Given the description of an element on the screen output the (x, y) to click on. 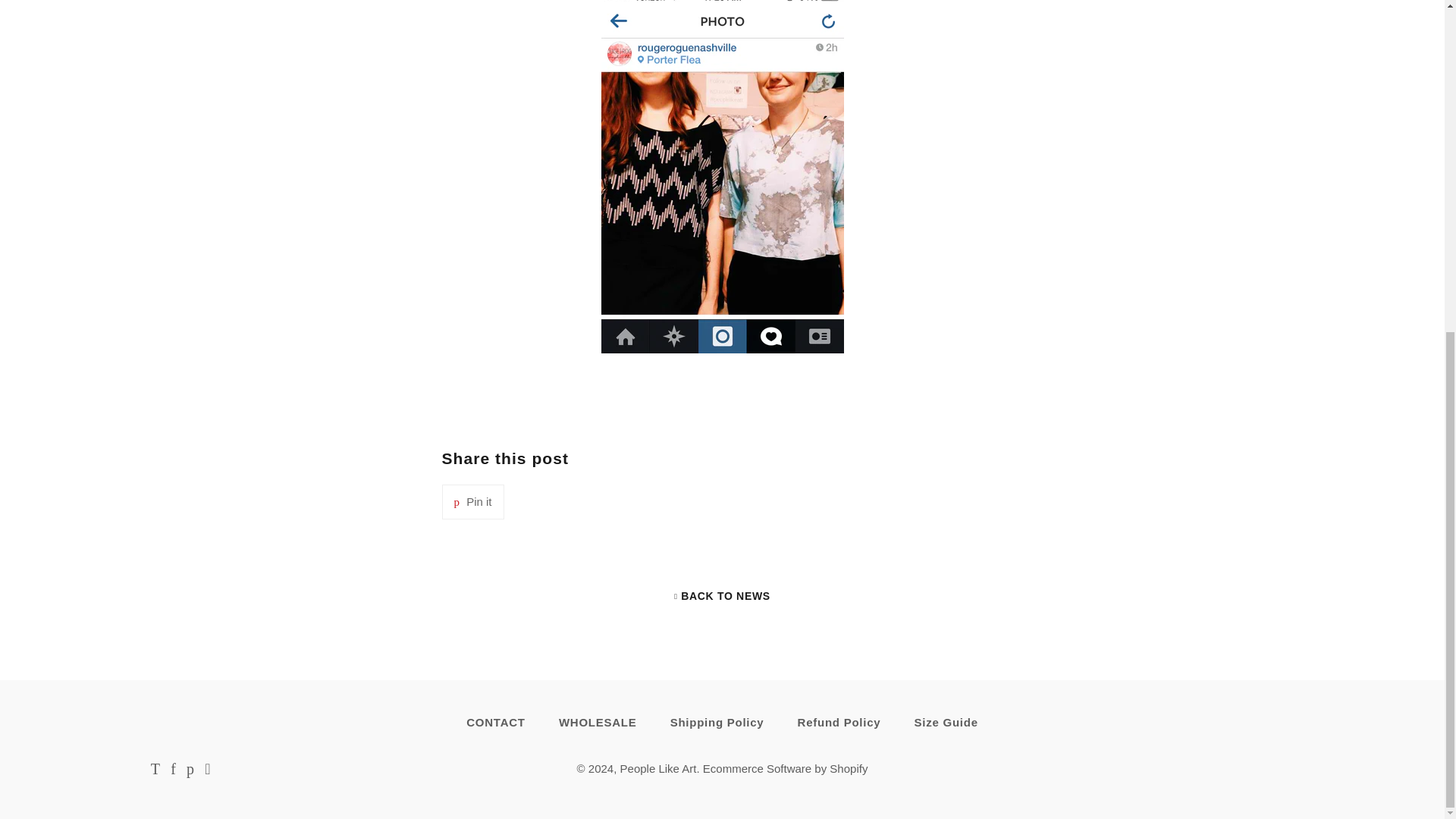
BACK TO NEWS (722, 595)
Pin on Pinterest (472, 501)
